Given the description of an element on the screen output the (x, y) to click on. 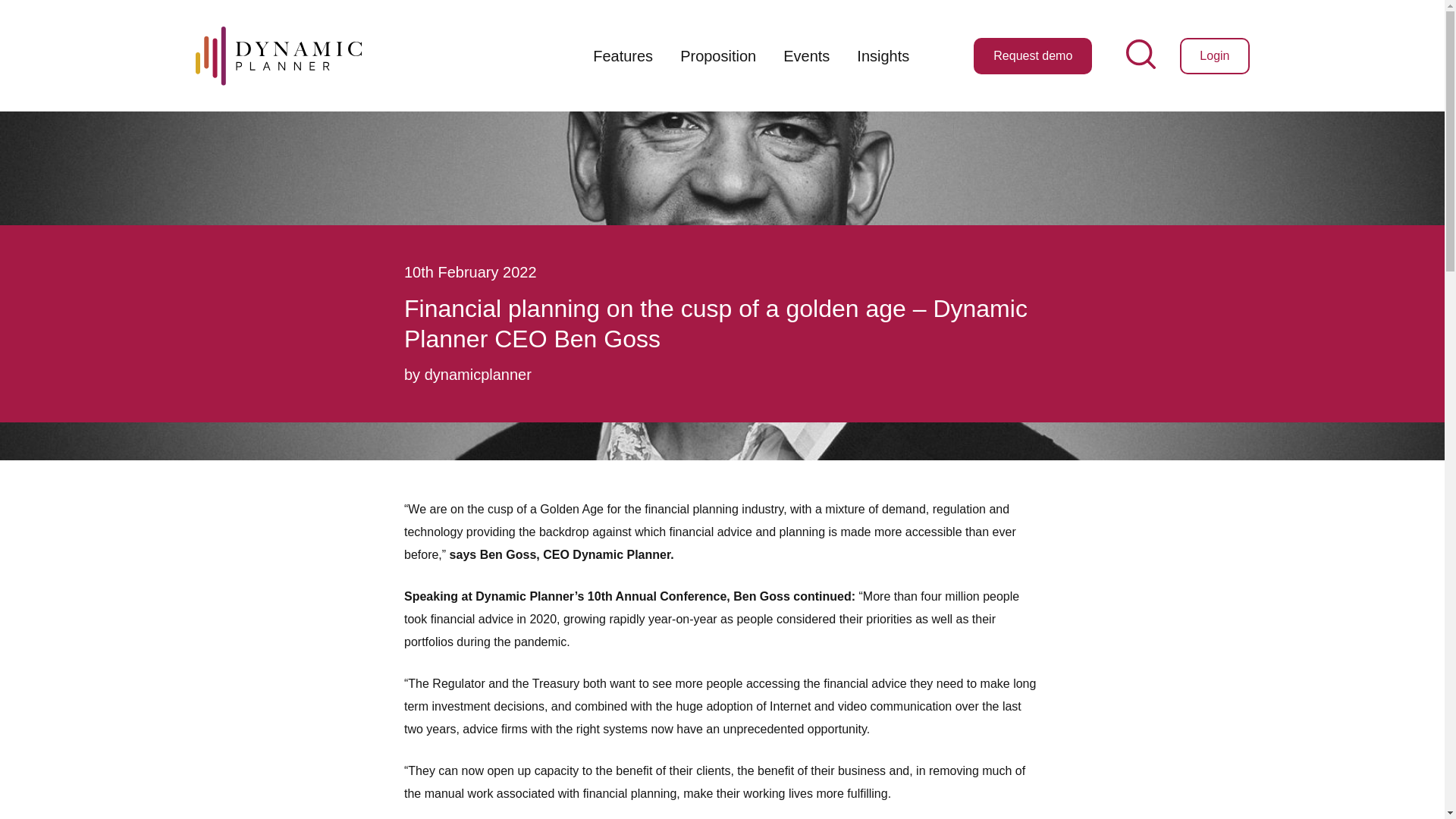
Features (622, 55)
Dynamic Planner (278, 55)
Proposition (718, 55)
Events (806, 55)
